Given the description of an element on the screen output the (x, y) to click on. 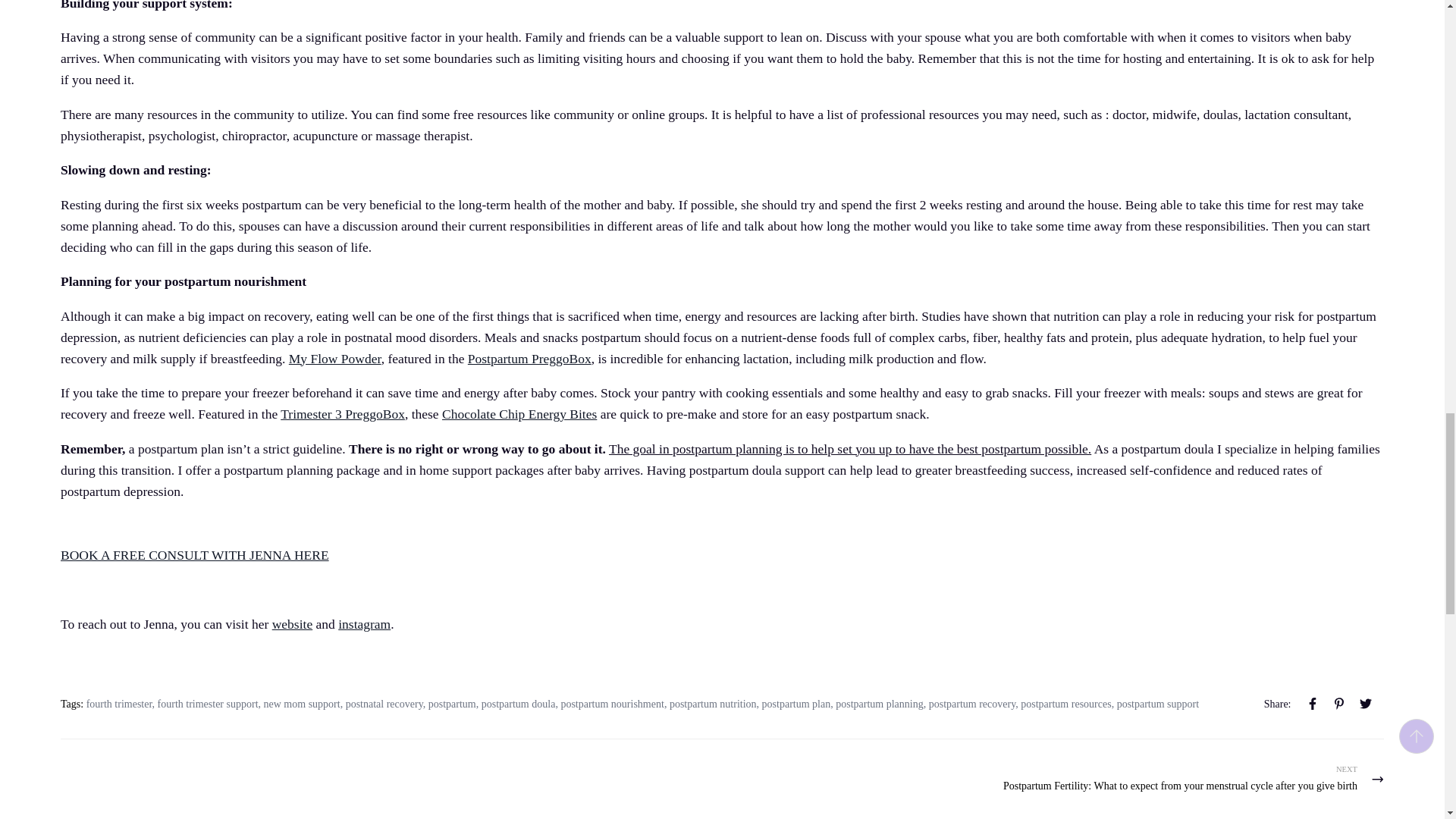
healthy postpartum snack (519, 413)
Trimester 3 PreggoBox gift (342, 413)
postpartum gift box (529, 357)
postpartum planning (292, 623)
postpartum recovery powder (334, 357)
nourish and nurture's instagram page (363, 623)
Book a free consult with me! (195, 554)
